Given the description of an element on the screen output the (x, y) to click on. 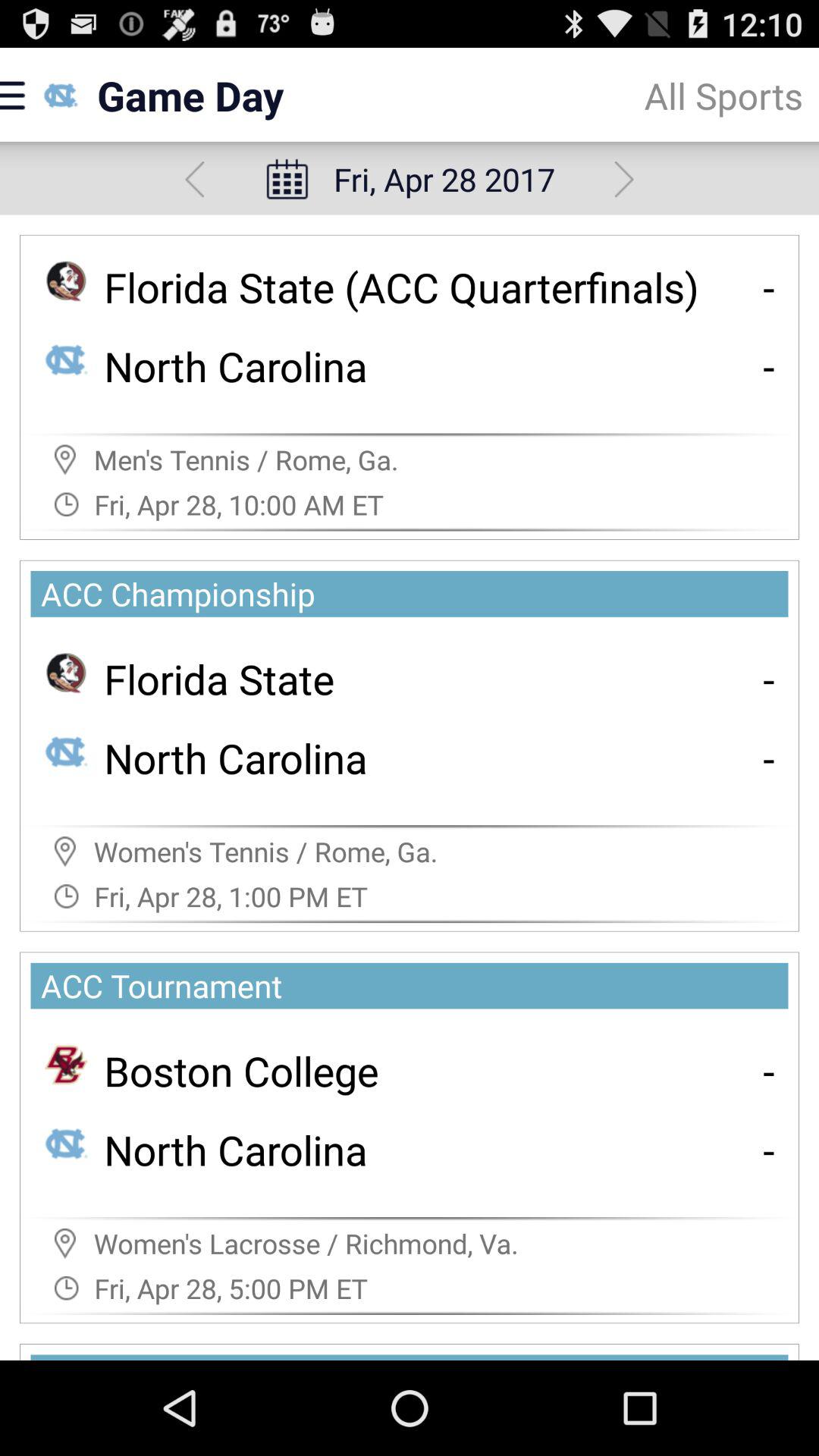
tap - item (768, 286)
